Given the description of an element on the screen output the (x, y) to click on. 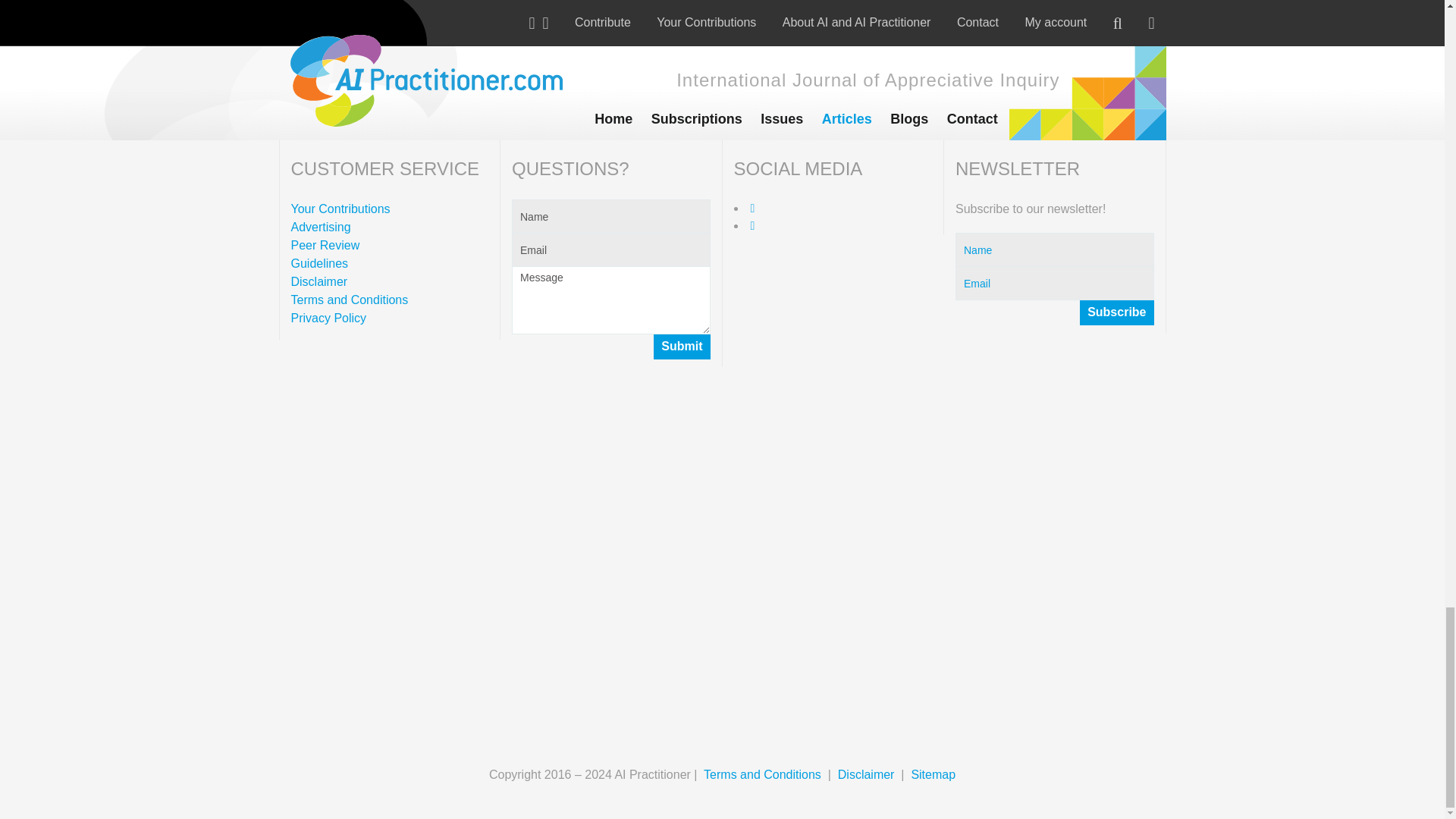
Email (611, 249)
Subscribe (1116, 312)
Submit (681, 346)
Name (611, 216)
